Given the description of an element on the screen output the (x, y) to click on. 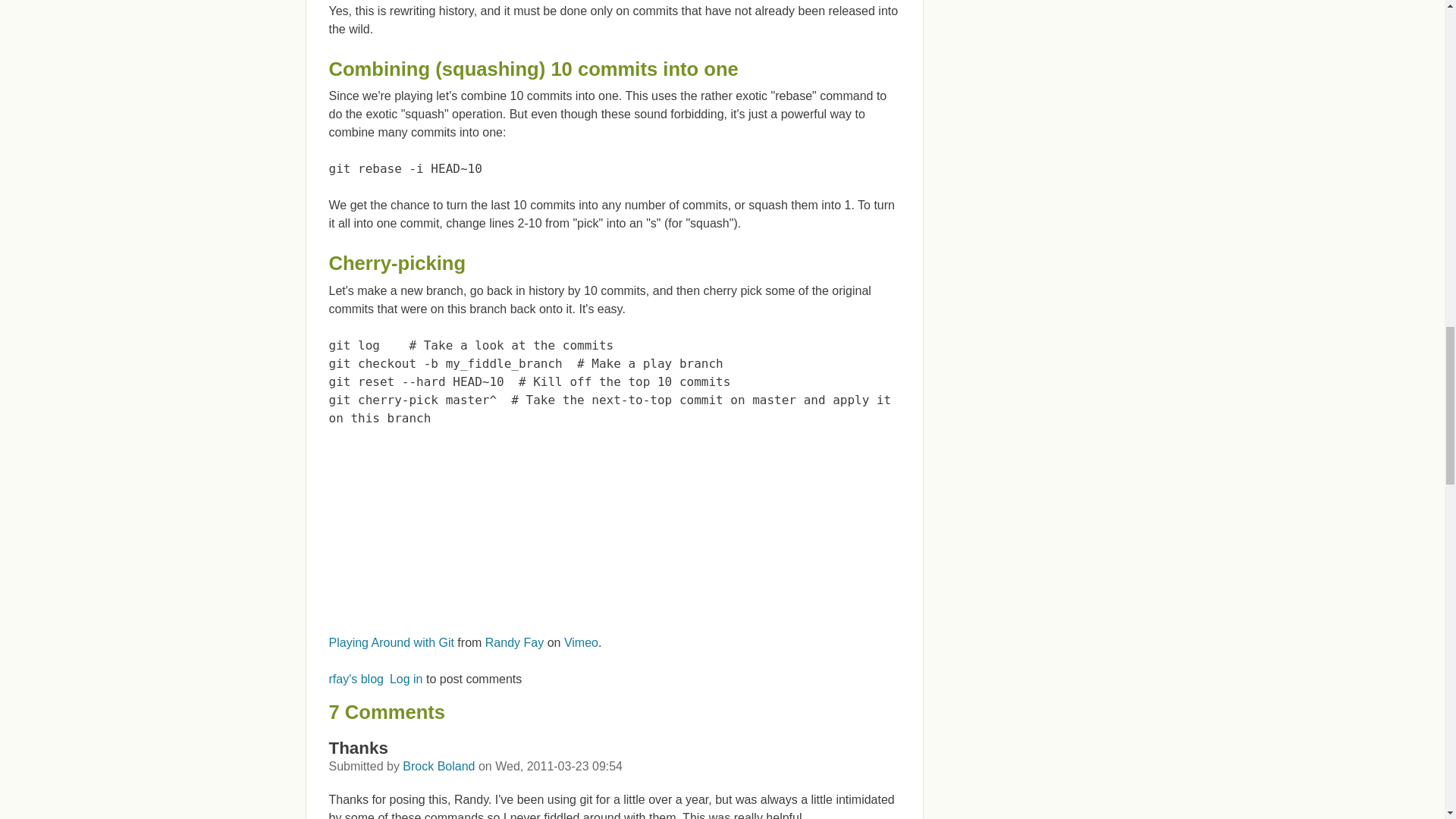
rfay's blog (356, 678)
Brock Boland (438, 766)
Randy Fay (513, 642)
Thanks (358, 747)
Read rfay's latest blog entries. (356, 678)
Playing Around with Git (391, 642)
Log in (406, 678)
Vimeo (581, 642)
